Given the description of an element on the screen output the (x, y) to click on. 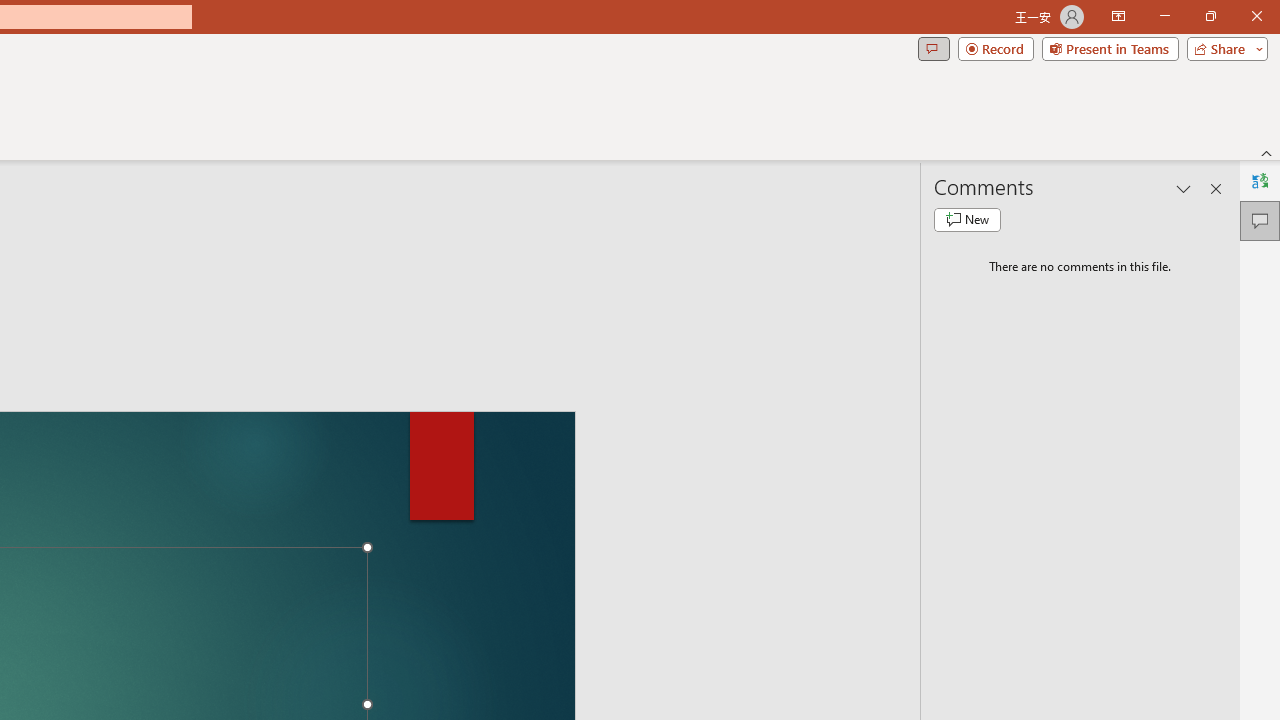
New comment (967, 219)
